Given the description of an element on the screen output the (x, y) to click on. 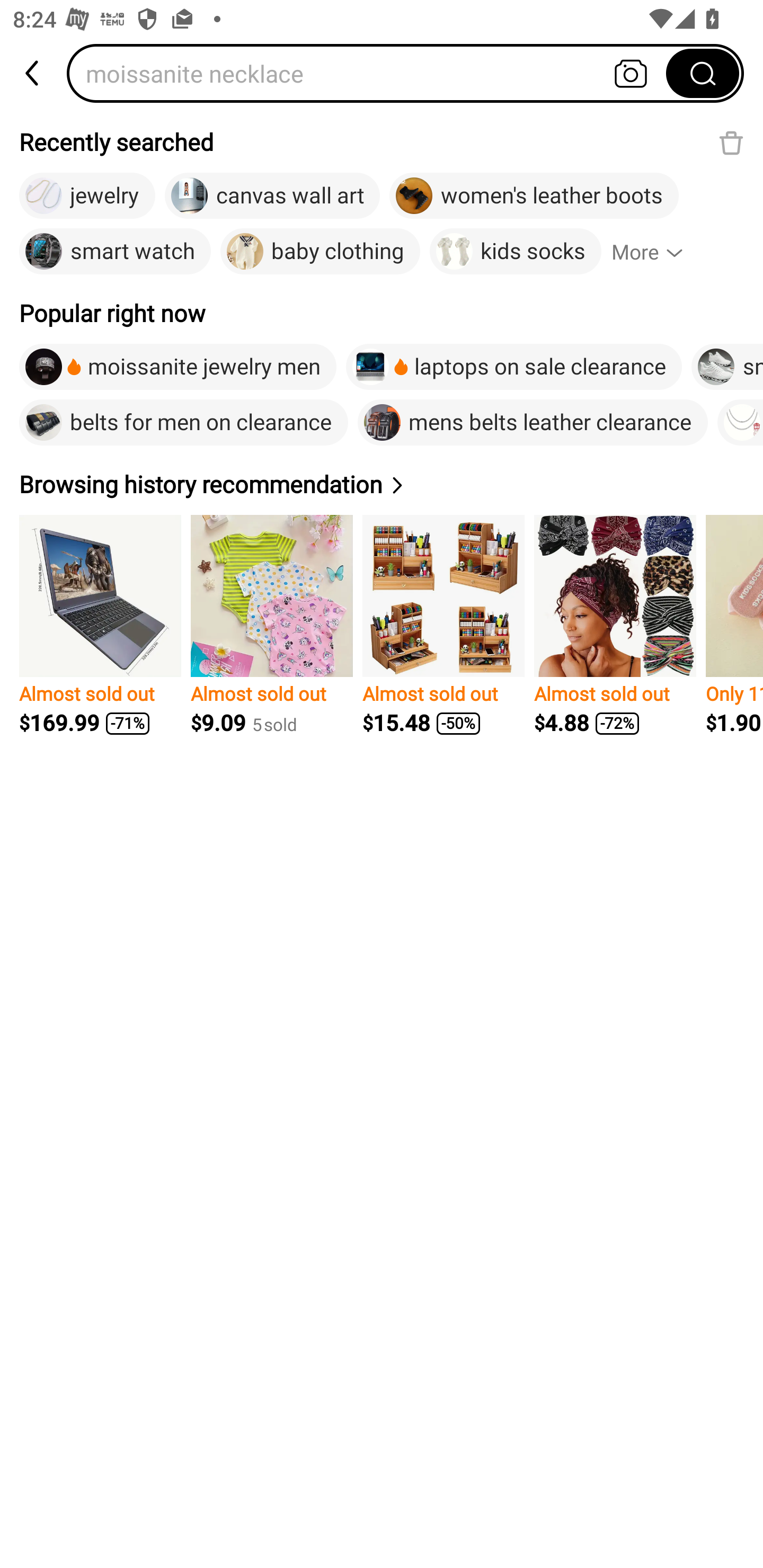
back (33, 72)
moissanite necklace (372, 73)
Search by photo (630, 73)
Delete recent search (731, 142)
jewelry (86, 195)
canvas wall art (271, 195)
women's leather boots (534, 195)
smart watch (114, 251)
baby clothing (320, 251)
kids socks (515, 251)
More (655, 251)
moissanite jewelry men (177, 366)
laptops on sale clearance (513, 366)
belts for men on clearance (183, 422)
mens belts leather clearance (532, 422)
Browsing history recommendation (213, 484)
Almost sold out $169.99 -71% (100, 625)
Almost sold out $9.09 5￼sold (271, 625)
Almost sold out $15.48 -50% (443, 625)
Almost sold out $4.88 -72% (614, 625)
